Given the description of an element on the screen output the (x, y) to click on. 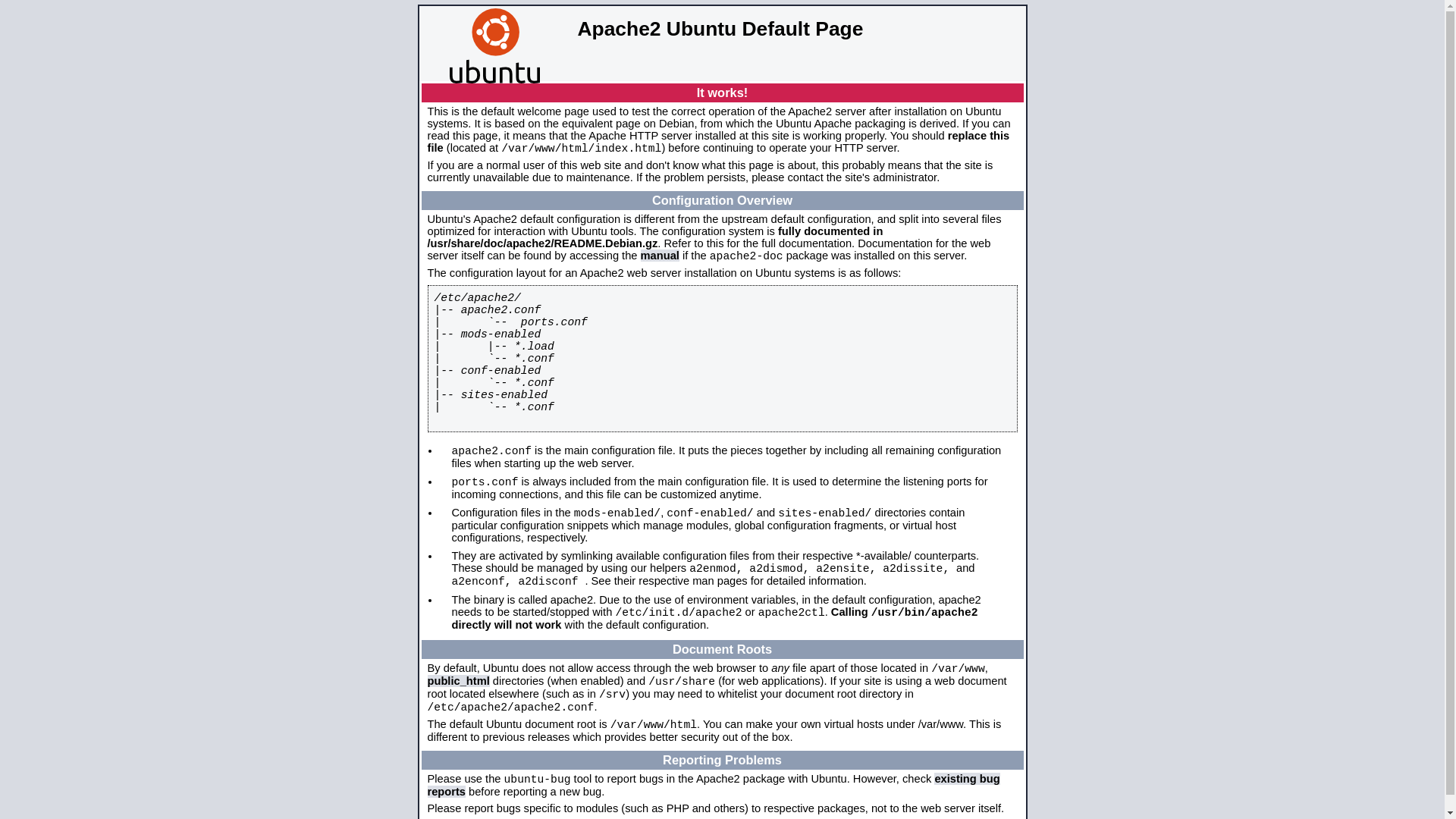
manual Element type: text (659, 255)
existing bug reports Element type: text (713, 784)
public_html Element type: text (458, 680)
